Given the description of an element on the screen output the (x, y) to click on. 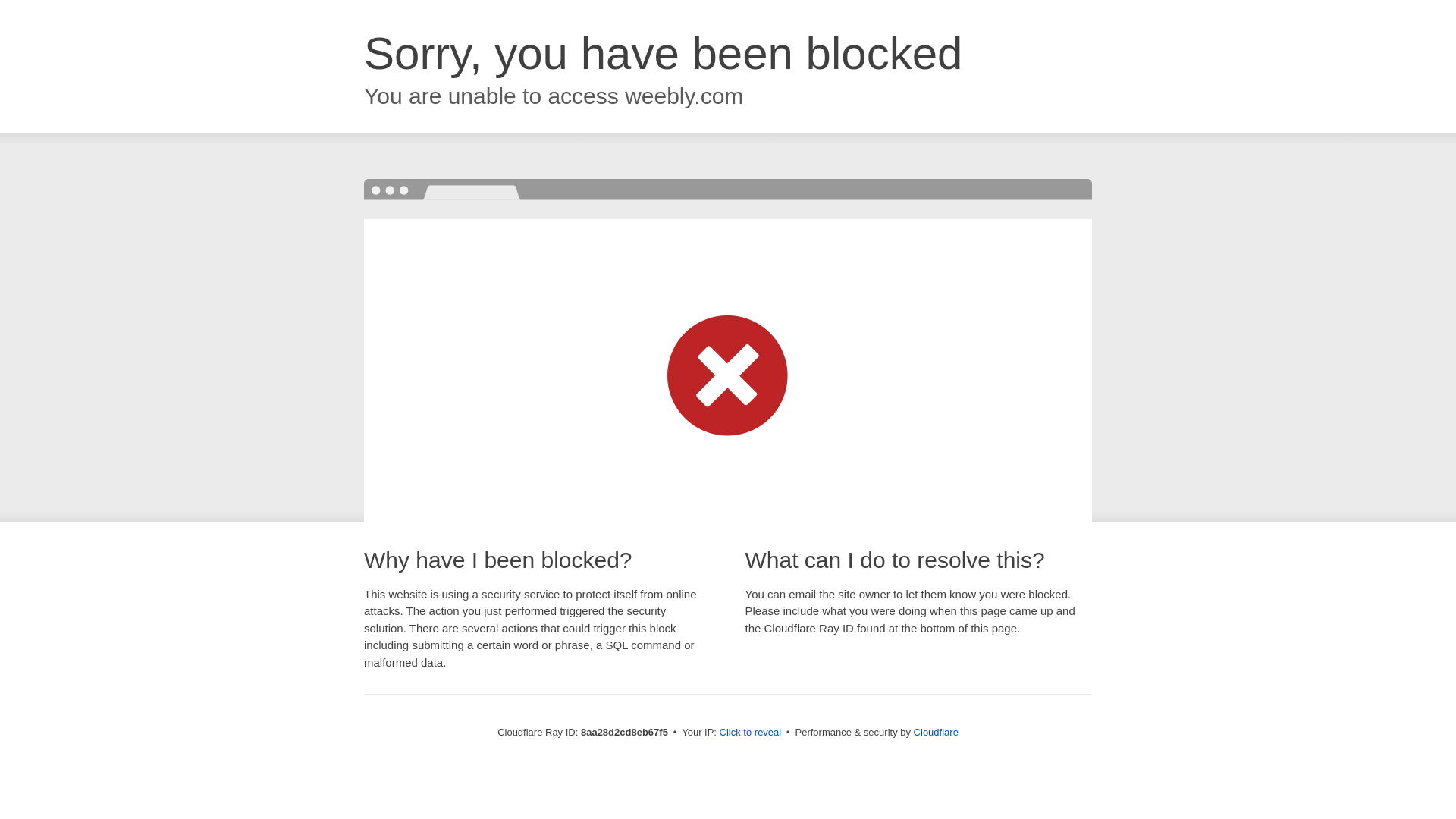
Click to reveal (750, 732)
Cloudflare (936, 731)
